Given the description of an element on the screen output the (x, y) to click on. 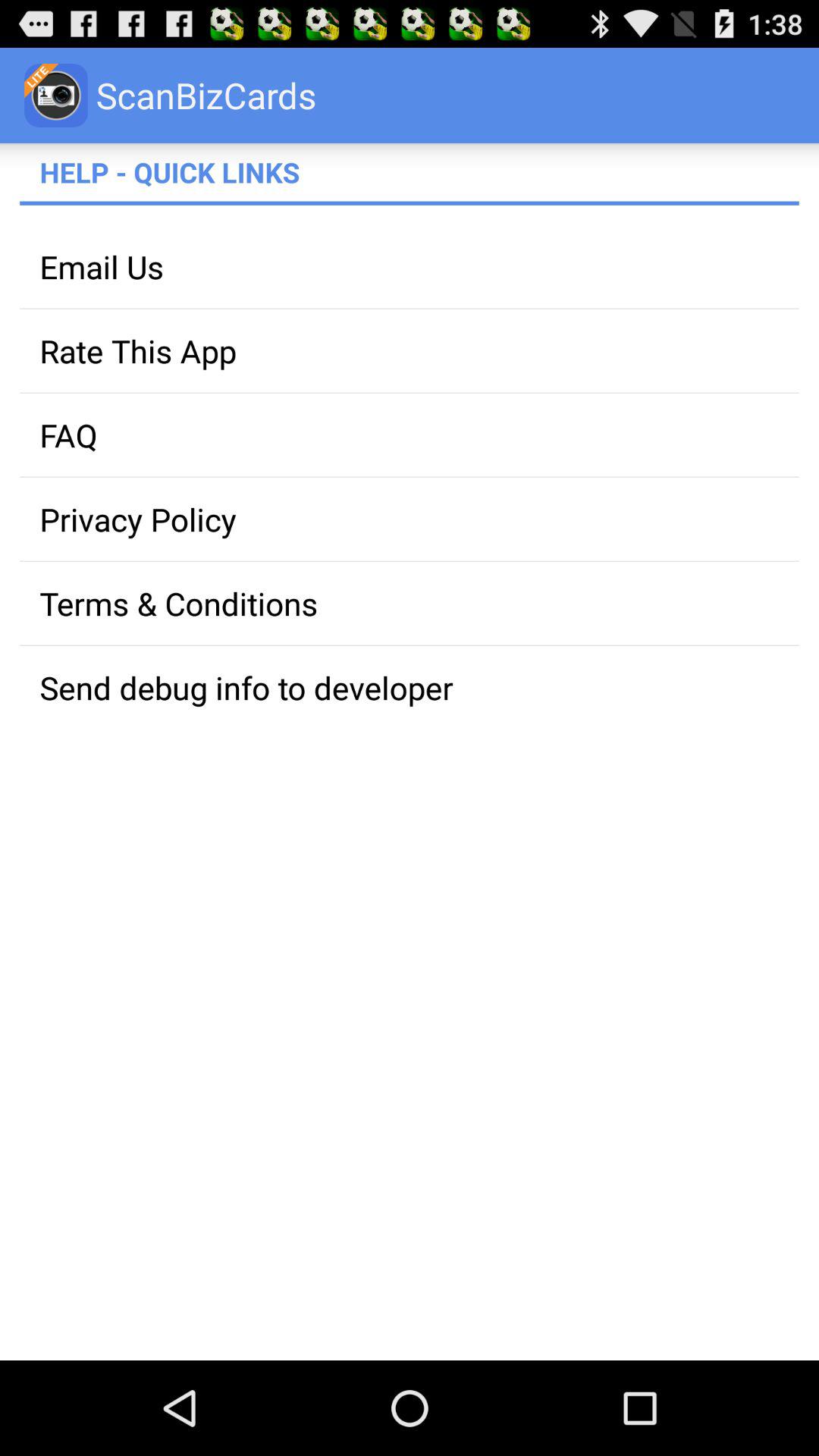
choose app above the terms & conditions icon (409, 518)
